Given the description of an element on the screen output the (x, y) to click on. 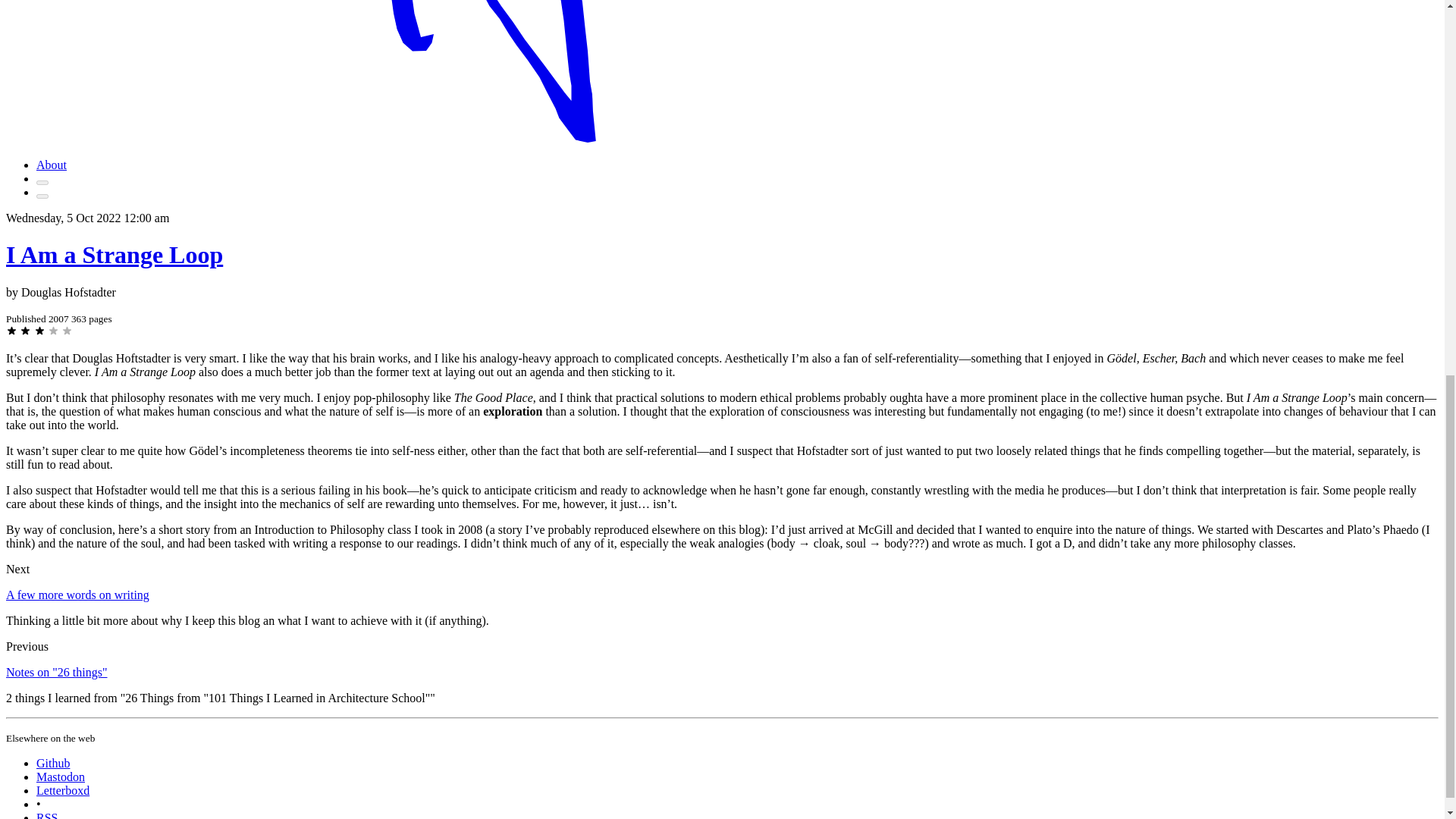
I Am a Strange Loop (113, 254)
Notes on "26 things" (56, 671)
A few more words on writing (77, 594)
Letterboxd (62, 789)
Github (52, 762)
About (51, 164)
Mastodon (60, 776)
